Given the description of an element on the screen output the (x, y) to click on. 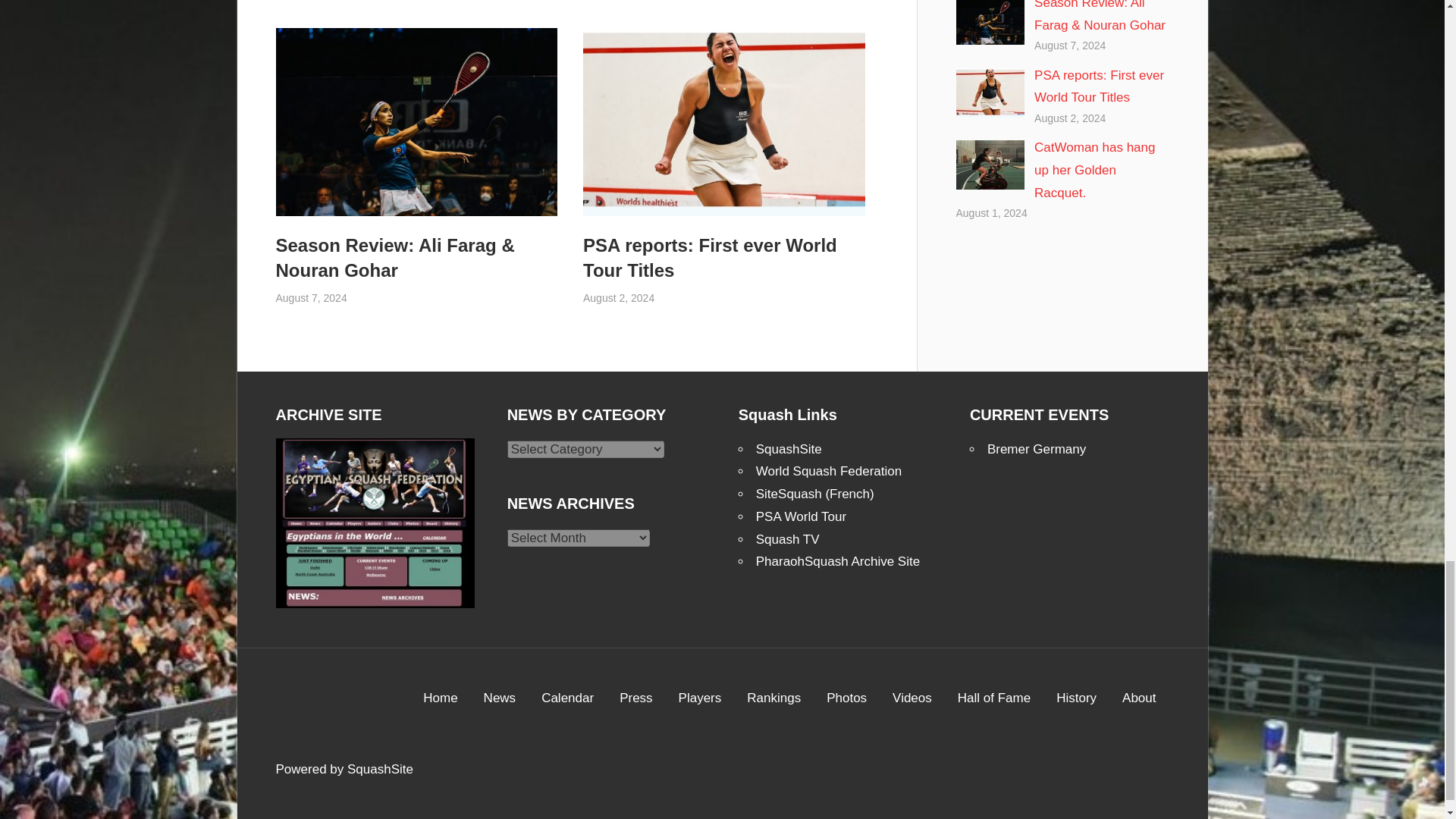
August 7, 2024 (311, 297)
August 2, 2024 (618, 297)
10:32 pm (618, 297)
PSA reports: First ever World Tour Titles (710, 258)
12:19 am (311, 297)
